Given the description of an element on the screen output the (x, y) to click on. 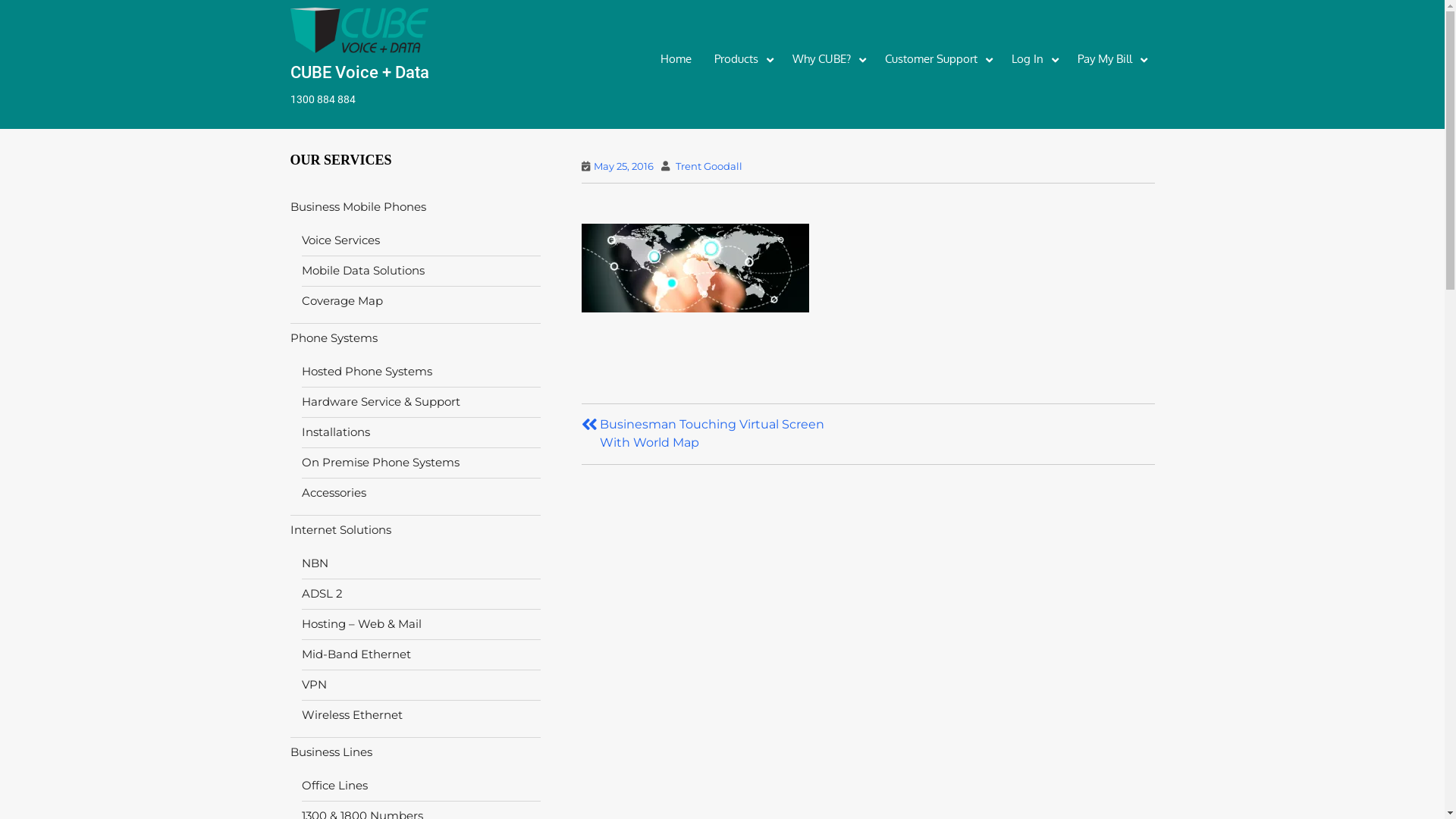
Why CUBE? Element type: text (827, 58)
Office Lines Element type: text (334, 785)
Voice Services Element type: text (340, 239)
ADSL 2 Element type: text (321, 593)
Phone Systems Element type: text (332, 337)
Business Mobile Phones Element type: text (357, 206)
Internet Solutions Element type: text (339, 529)
Mid-Band Ethernet Element type: text (356, 653)
NBN Element type: text (314, 562)
Mobile Data Solutions Element type: text (362, 270)
Hardware Service & Support Element type: text (380, 401)
Accessories Element type: text (333, 492)
Installations Element type: text (335, 431)
Trent Goodall Element type: text (708, 166)
Hosted Phone Systems Element type: text (366, 371)
May 25, 2016 Element type: text (623, 166)
Coverage Map Element type: text (341, 300)
Home Element type: text (675, 58)
On Premise Phone Systems Element type: text (380, 462)
Log In Element type: text (1032, 58)
Businesman Touching Virtual Screen With World Map Element type: text (718, 434)
Business Lines Element type: text (330, 751)
Wireless Ethernet Element type: text (351, 714)
Customer Support Element type: text (936, 58)
Products Element type: text (741, 58)
VPN Element type: text (313, 684)
Pay My Bill Element type: text (1110, 58)
CUBE Voice + Data Element type: text (391, 72)
